Given the description of an element on the screen output the (x, y) to click on. 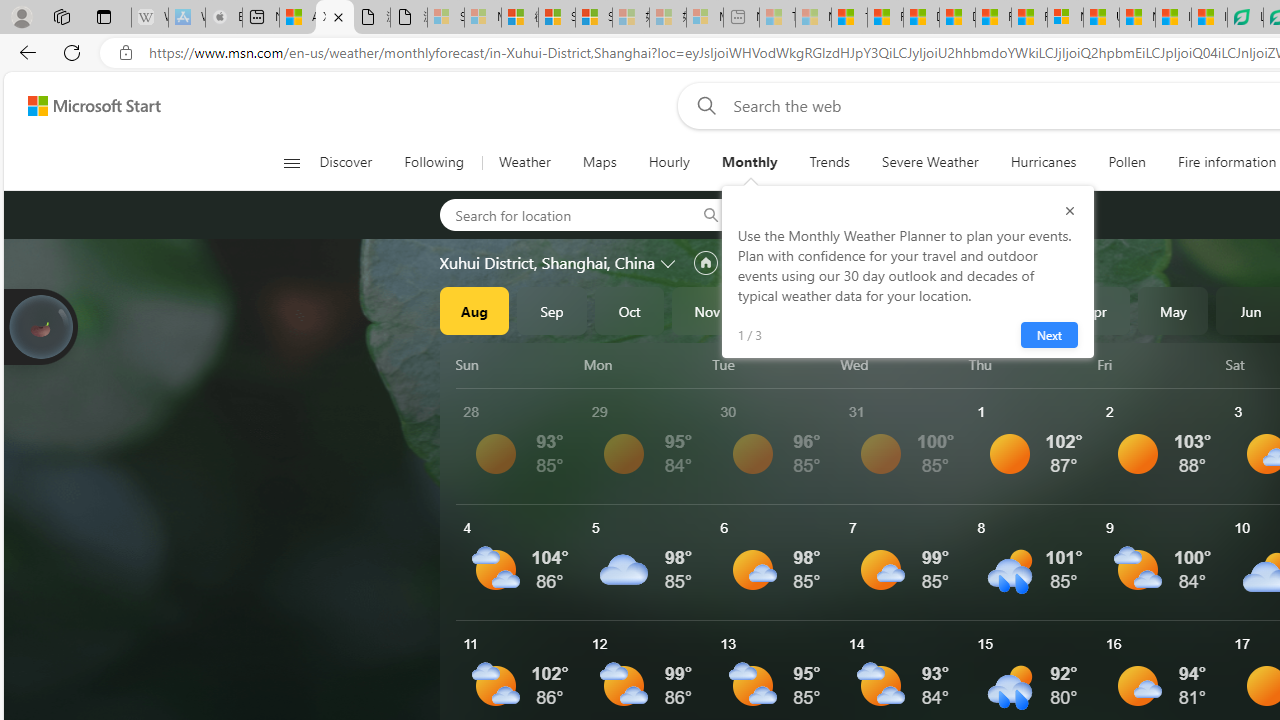
Trends (829, 162)
Nov (707, 310)
Marine life - MSN - Sleeping (813, 17)
Foo BAR | Trusted Community Engagement and Contributions (1029, 17)
Pollen (1126, 162)
Drinking tea every day is proven to delay biological aging (957, 17)
Apr (1095, 310)
Maps (599, 162)
